Given the description of an element on the screen output the (x, y) to click on. 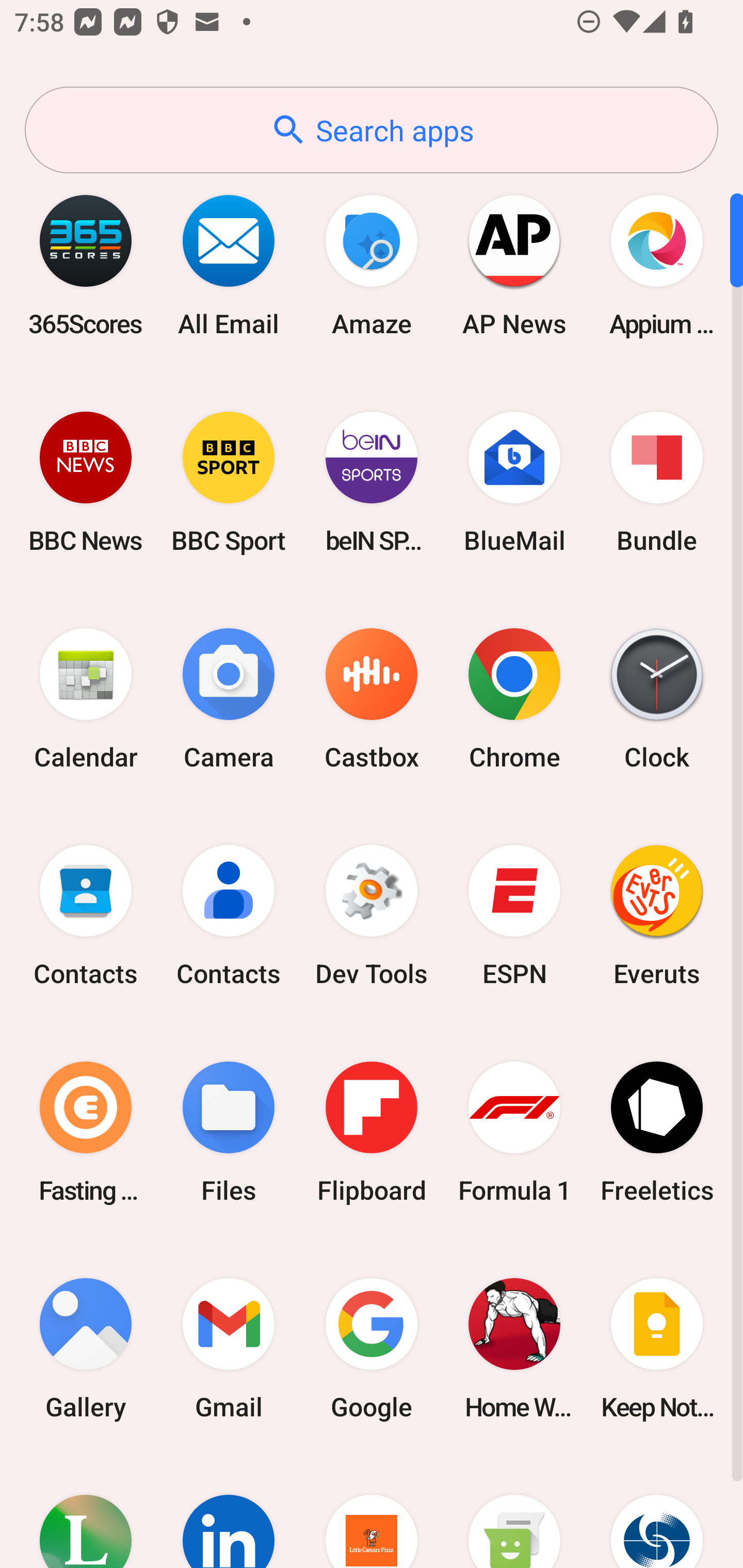
  Search apps (371, 130)
365Scores (85, 264)
All Email (228, 264)
Amaze (371, 264)
AP News (514, 264)
Appium Settings (656, 264)
BBC News (85, 482)
BBC Sport (228, 482)
beIN SPORTS (371, 482)
BlueMail (514, 482)
Bundle (656, 482)
Calendar (85, 699)
Camera (228, 699)
Castbox (371, 699)
Chrome (514, 699)
Clock (656, 699)
Contacts (85, 915)
Contacts (228, 915)
Dev Tools (371, 915)
ESPN (514, 915)
Everuts (656, 915)
Fasting Coach (85, 1131)
Files (228, 1131)
Flipboard (371, 1131)
Formula 1 (514, 1131)
Freeletics (656, 1131)
Gallery (85, 1348)
Gmail (228, 1348)
Google (371, 1348)
Home Workout (514, 1348)
Keep Notes (656, 1348)
